Given the description of an element on the screen output the (x, y) to click on. 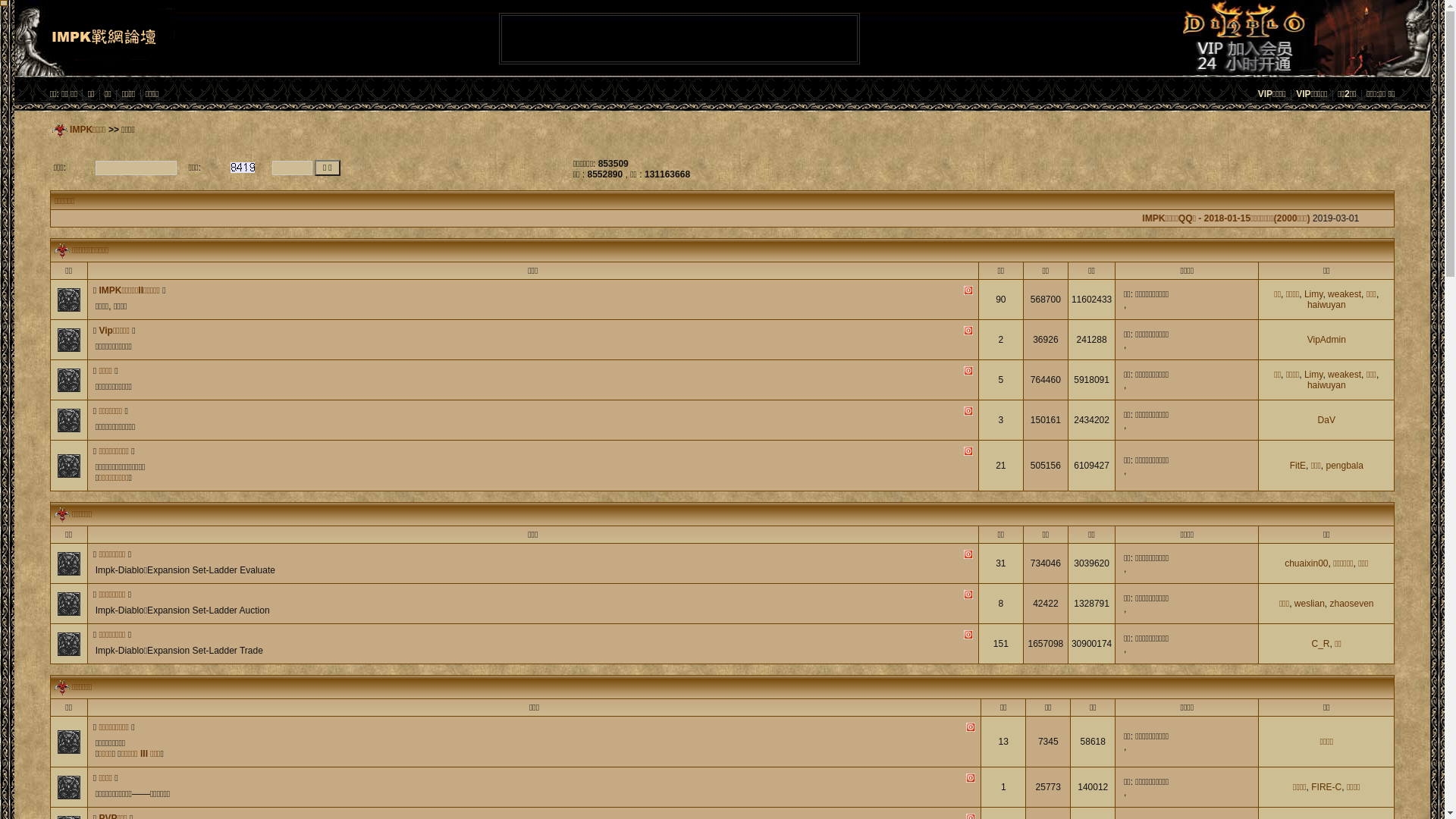
C_R Element type: text (1320, 643)
FitE Element type: text (1297, 465)
VipAdmin Element type: text (1326, 339)
DaV Element type: text (1326, 419)
Limy Element type: text (1313, 293)
weakest Element type: text (1344, 293)
pengbala Element type: text (1343, 465)
weslian Element type: text (1309, 603)
zhaoseven Element type: text (1352, 603)
chuaixin00 Element type: text (1305, 563)
haiwuyan Element type: text (1326, 384)
Limy Element type: text (1313, 374)
weakest Element type: text (1344, 374)
FIRE-C Element type: text (1326, 786)
haiwuyan Element type: text (1326, 304)
